Given the description of an element on the screen output the (x, y) to click on. 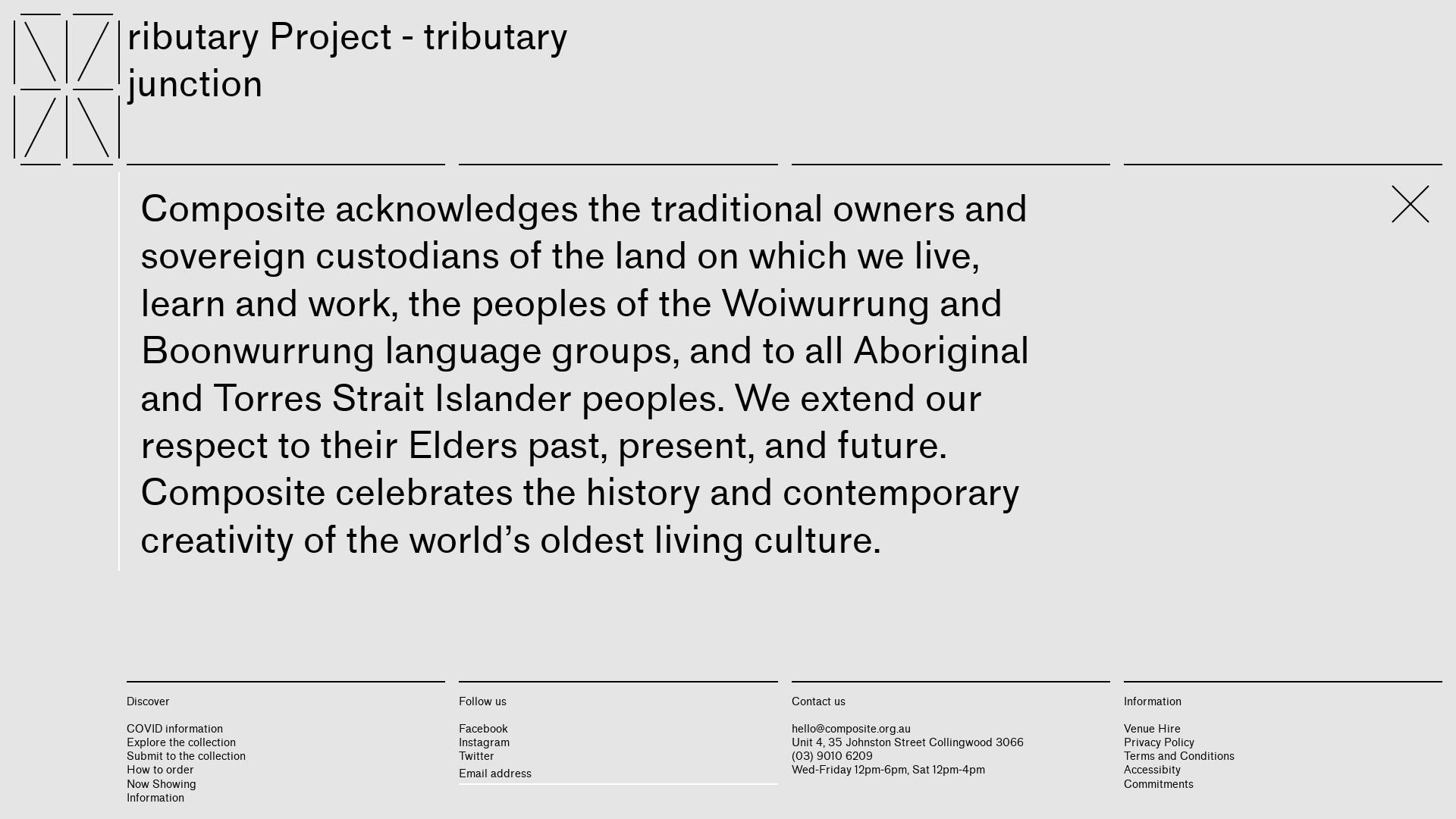
How to order Element type: text (160, 769)
Venue Hire Element type: text (1151, 728)
COVID information Element type: text (174, 728)
Submit to the collection Element type: text (185, 755)
Twitter Element type: text (476, 755)
Information Element type: text (155, 797)
Facebook Element type: text (483, 728)
Terms and Conditions Element type: text (1178, 755)
Commitments Element type: text (1158, 784)
Now Showing Element type: text (161, 784)
Accessibity Element type: text (1151, 769)
Explore the collection Element type: text (180, 742)
Instagram Element type: text (483, 742)
Privacy Policy Element type: text (1158, 742)
